Given the description of an element on the screen output the (x, y) to click on. 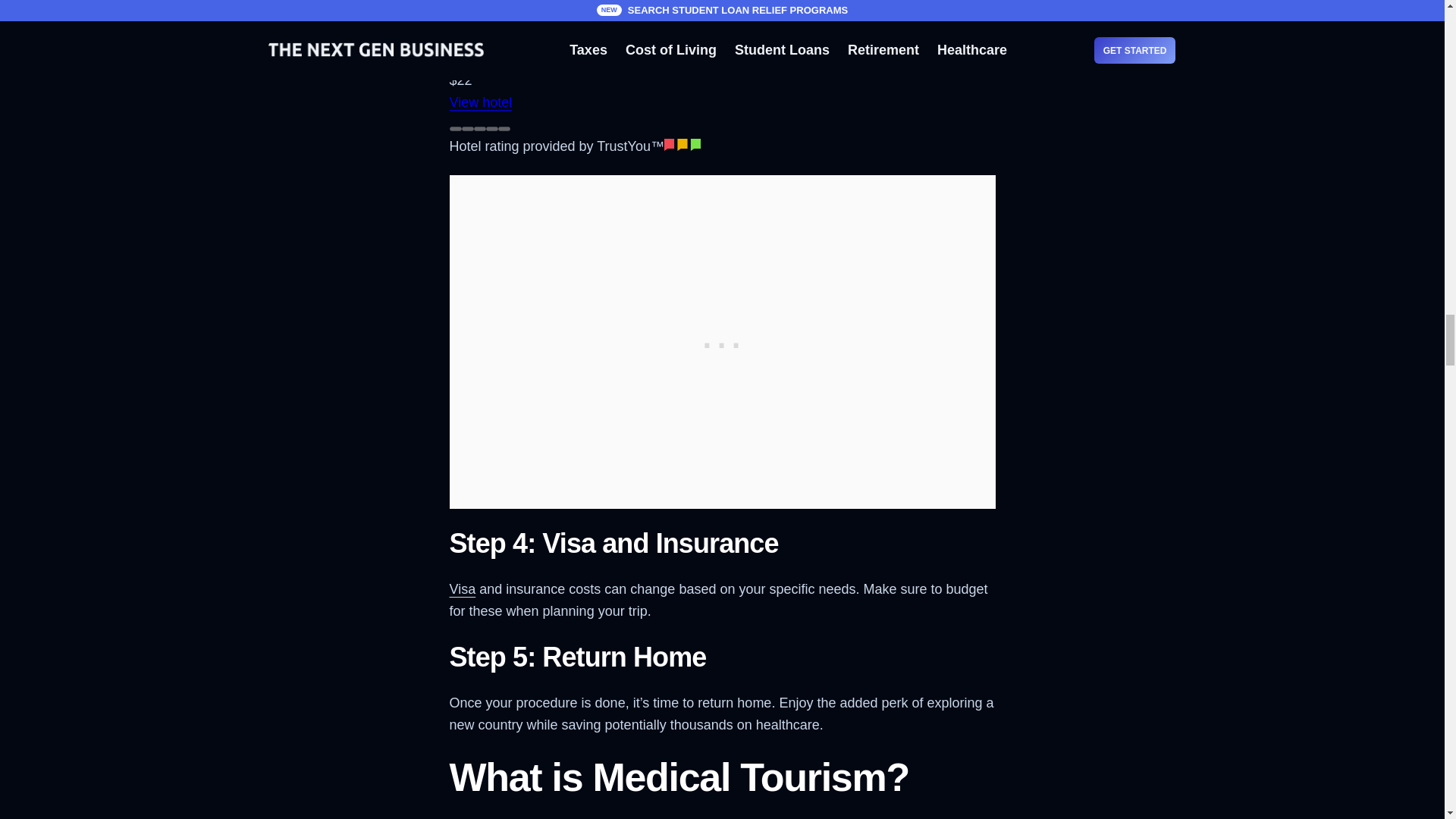
Visa (462, 589)
